Given the description of an element on the screen output the (x, y) to click on. 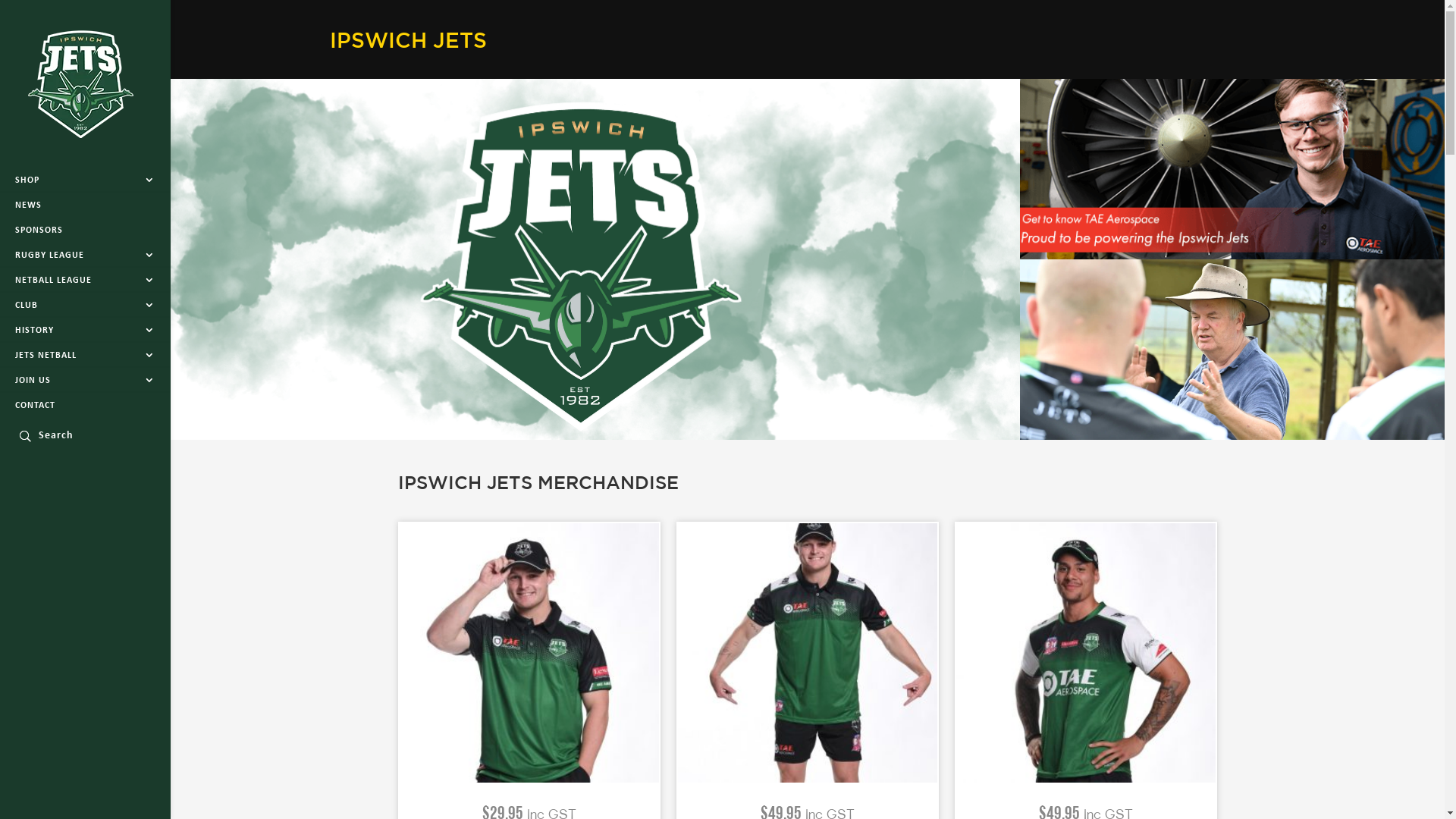
NEWS Element type: text (85, 205)
JOIN US Element type: text (85, 380)
NETBALL LEAGUE Element type: text (85, 280)
CLUB Element type: text (85, 305)
CONTACT Element type: text (85, 405)
SHOP Element type: text (85, 180)
HISTORY Element type: text (85, 330)
JETS NETBALL Element type: text (85, 355)
RUGBY LEAGUE Element type: text (85, 255)
SPONSORS Element type: text (85, 230)
